Given the description of an element on the screen output the (x, y) to click on. 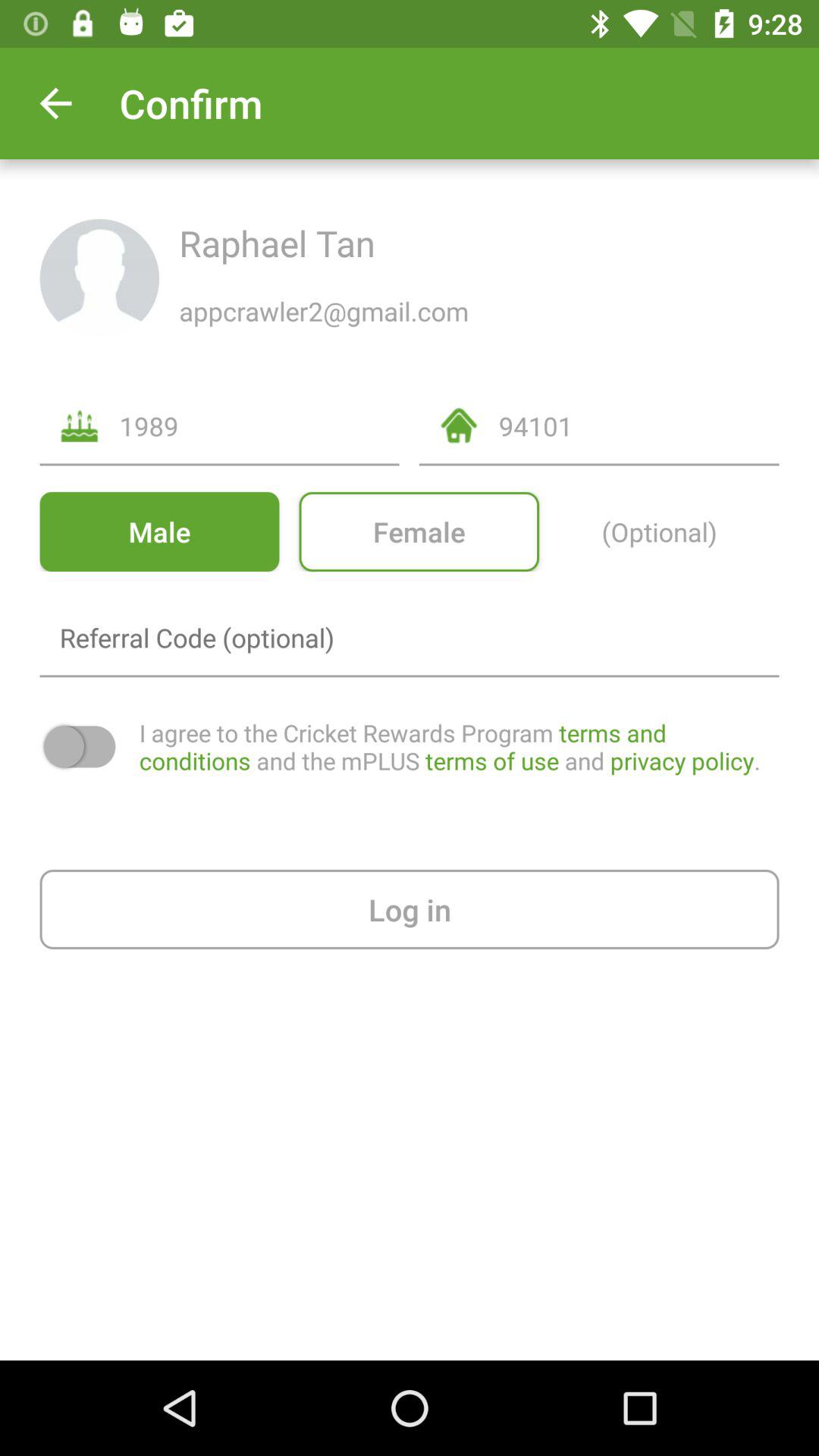
click on log in (409, 909)
click on the display picture icon (99, 278)
select the female option (418, 532)
select the home icon on left side numeric 94101 (458, 425)
click on the switch buttonavilable below referral code (79, 746)
